Given the description of an element on the screen output the (x, y) to click on. 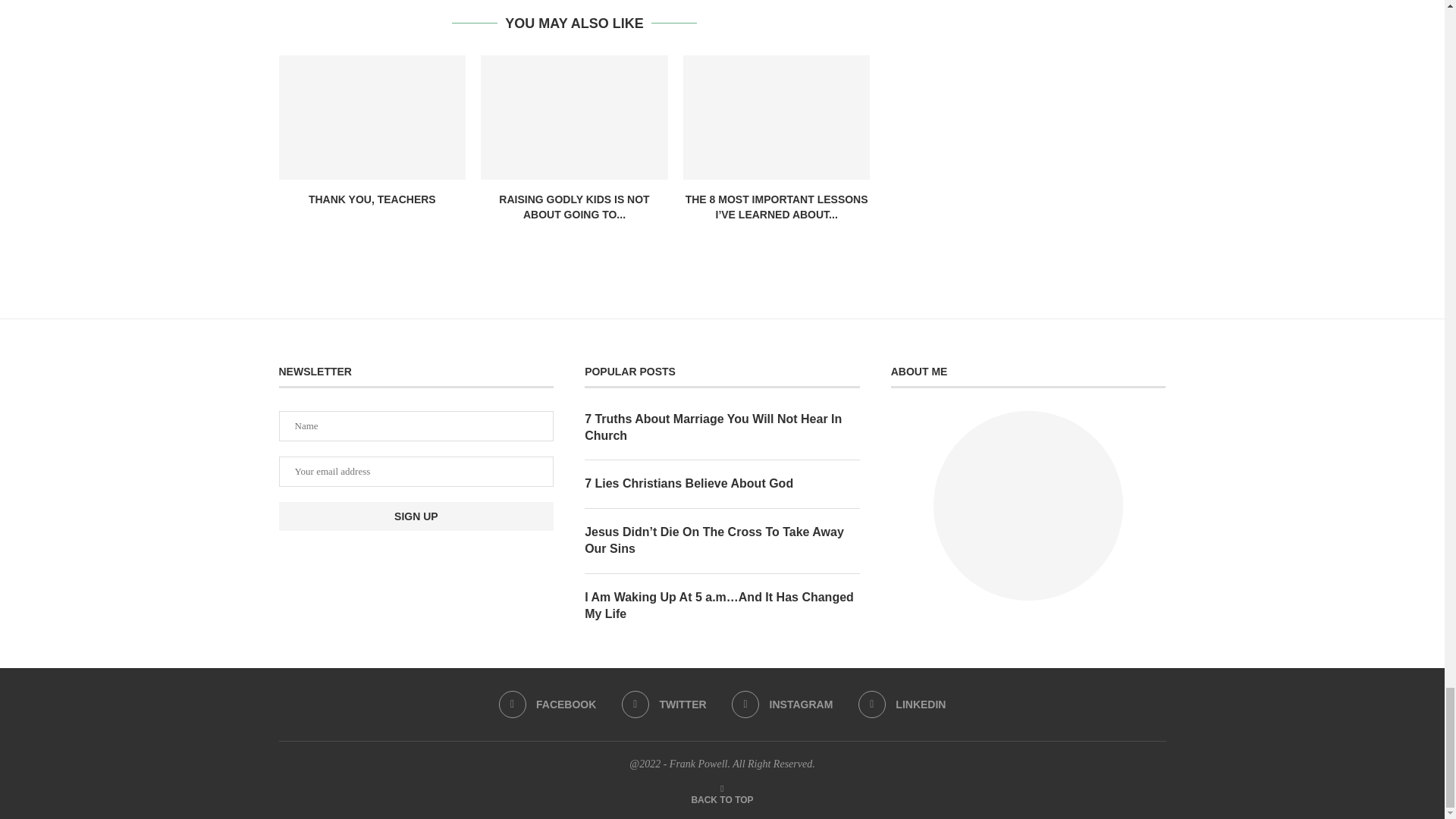
THANK YOU, TEACHERS (371, 199)
RAISING GODLY KIDS IS NOT ABOUT GOING TO... (574, 206)
Thank You, Teachers (372, 117)
Raising Godly Kids Is Not About Going To Church (574, 117)
Sign up (416, 516)
